Given the description of an element on the screen output the (x, y) to click on. 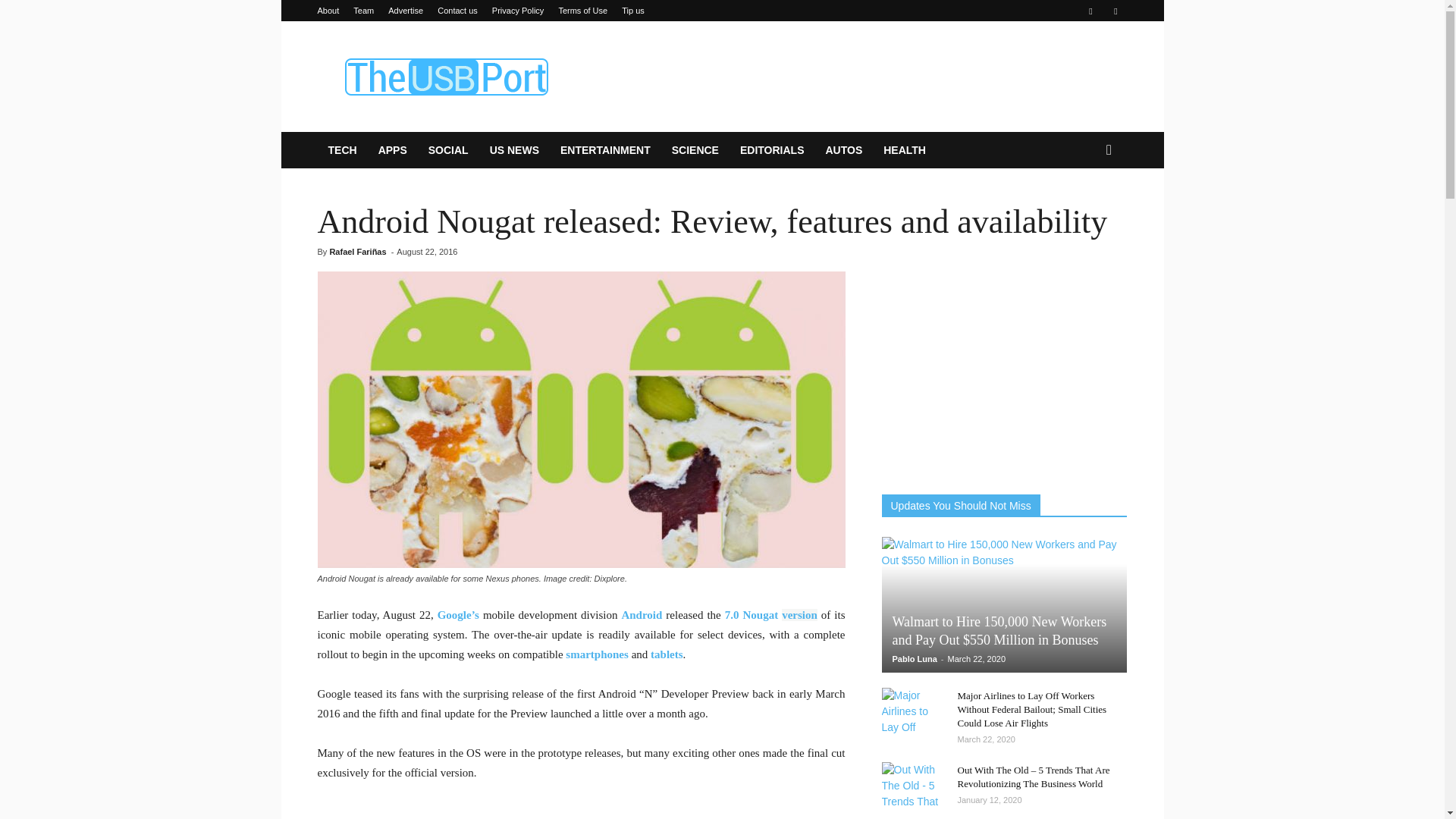
SOCIAL (448, 149)
APPS (392, 149)
Terms of Use (582, 10)
Twitter (1114, 10)
SCIENCE (695, 149)
EDITORIALS (772, 149)
US NEWS (514, 149)
Tip us (633, 10)
ENTERTAINMENT (605, 149)
Privacy Policy (517, 10)
Team (363, 10)
Facebook (1090, 10)
HEALTH (904, 149)
Advertise (405, 10)
AUTOS (842, 149)
